Given the description of an element on the screen output the (x, y) to click on. 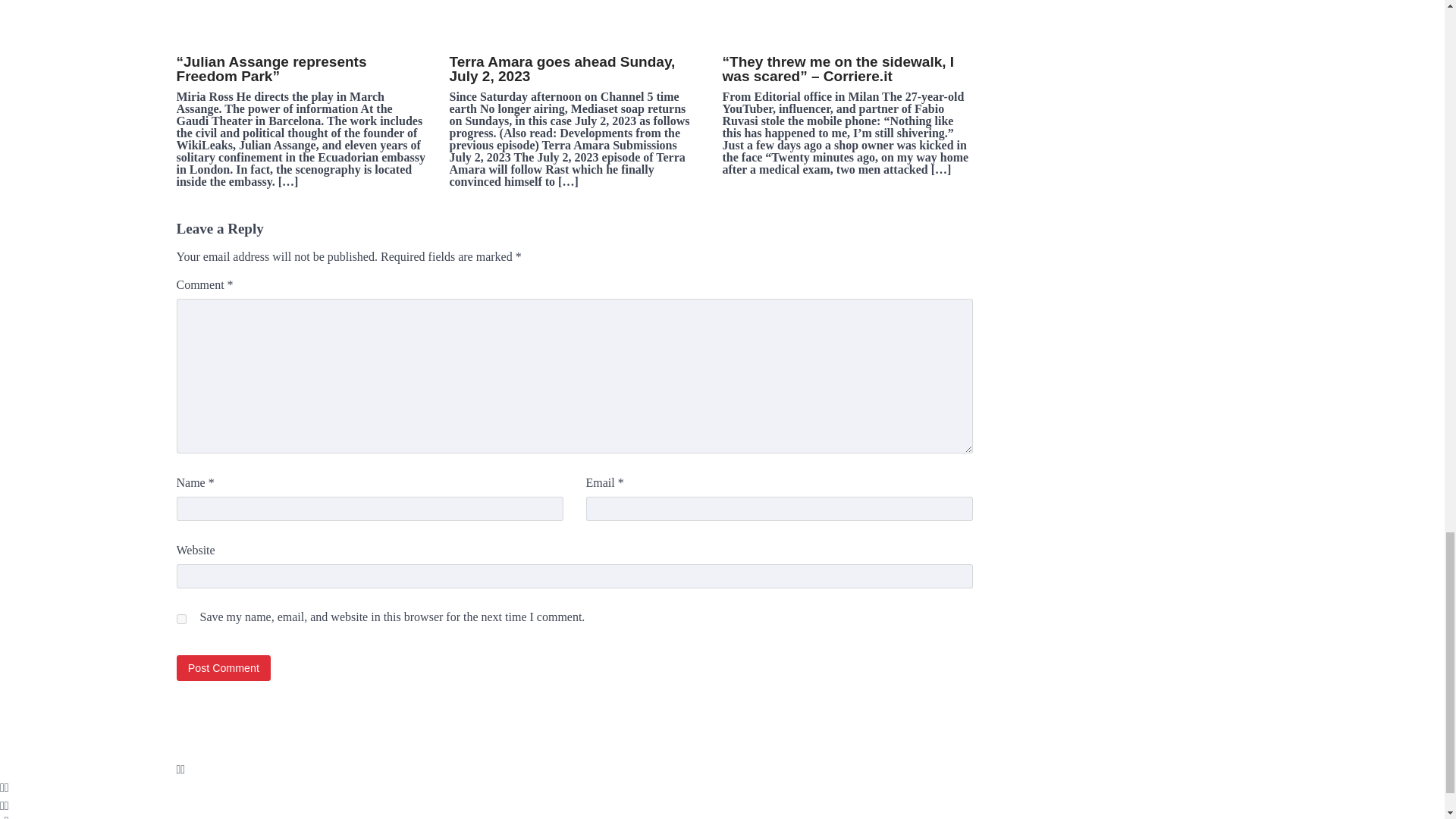
yes (181, 619)
Terra Amara goes ahead Sunday, July 2, 2023 (573, 19)
Terra Amara goes ahead Sunday, July 2, 2023 (573, 68)
Post Comment (223, 667)
Post Comment (223, 667)
